Given the description of an element on the screen output the (x, y) to click on. 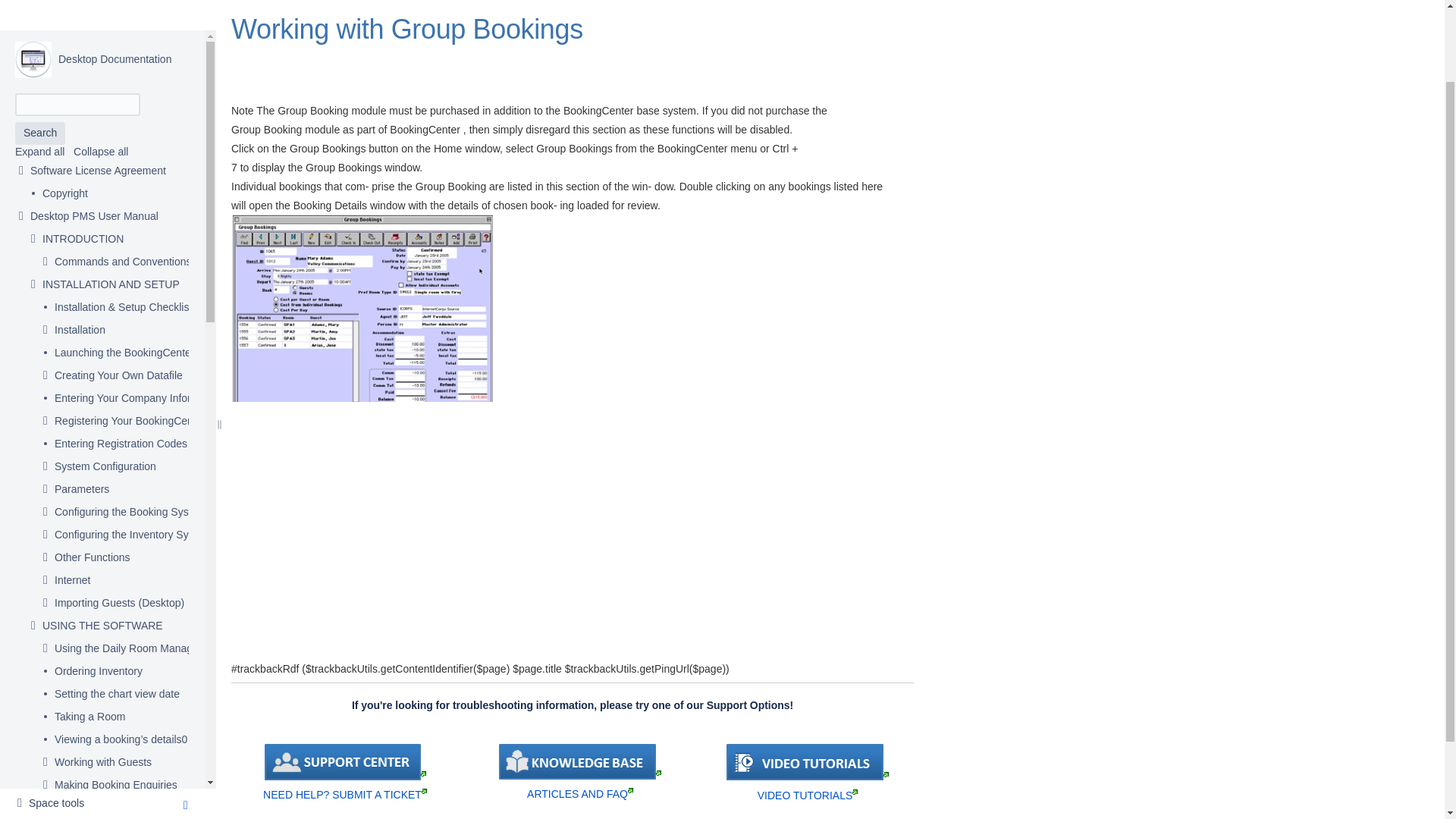
Desktop PMS User Manual (94, 128)
Search (39, 45)
INSTALLATION AND SETUP (110, 196)
Collapse all (101, 63)
Software License Agreement (97, 83)
INTRODUCTION (82, 151)
Copyright (64, 105)
Search (39, 45)
Commands and Conventions (123, 174)
Expand all (39, 63)
Installation (79, 242)
